Given the description of an element on the screen output the (x, y) to click on. 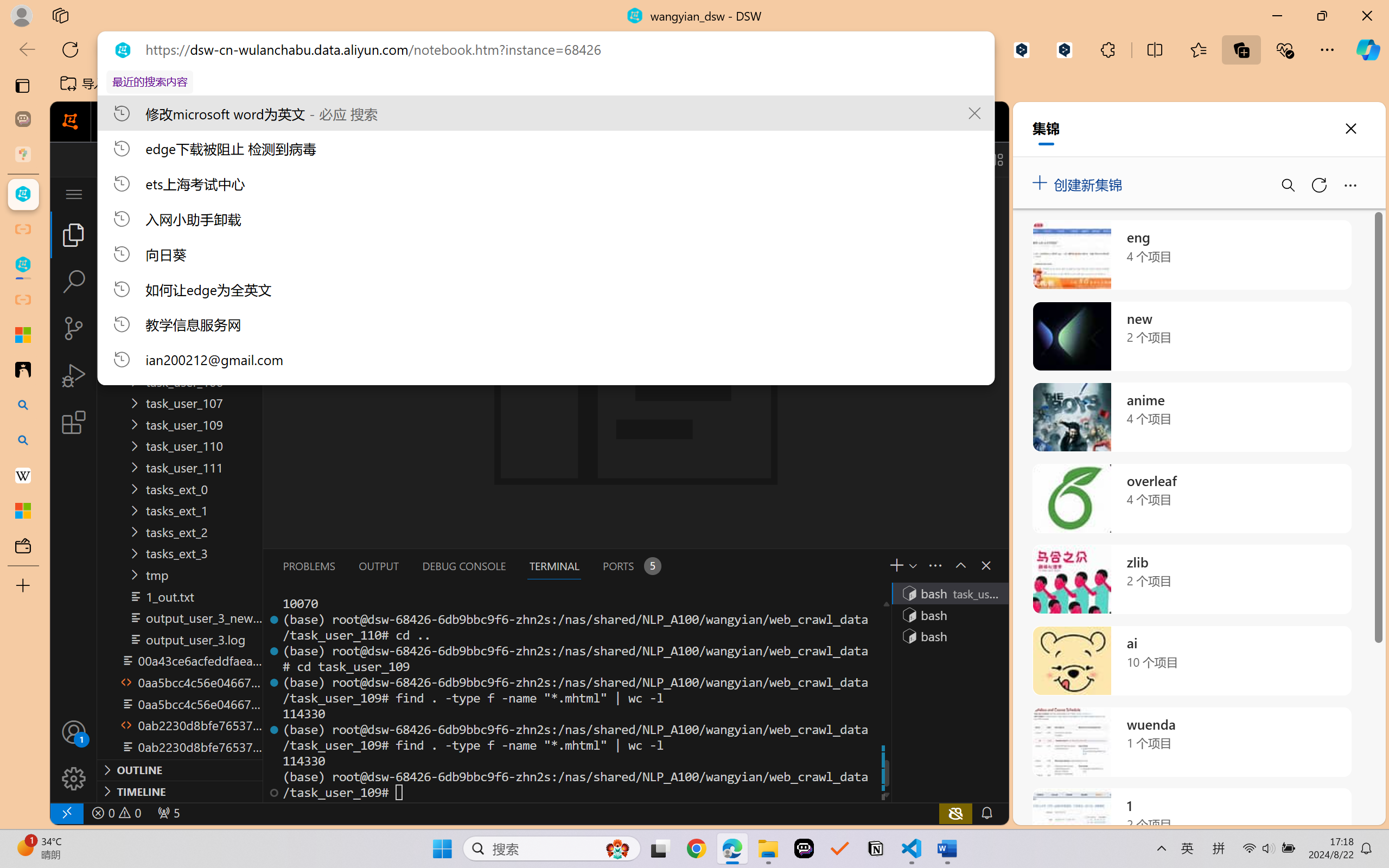
Earth - Wikipedia (22, 475)
Extensions (Ctrl+Shift+X) (73, 422)
Ports - 5 forwarded ports (630, 565)
Copilot (Ctrl+Shift+.) (1368, 49)
wangyian_webcrawler - DSW (22, 264)
Manage (73, 755)
wangyian_dsw - DSW (22, 194)
Customize Layout... (995, 159)
No Problems (115, 812)
Timeline Section (179, 791)
